Given the description of an element on the screen output the (x, y) to click on. 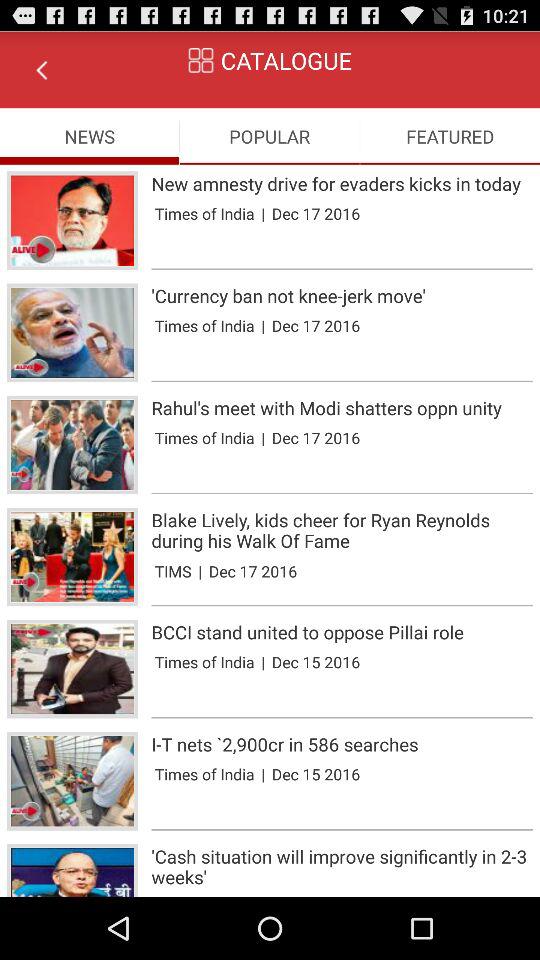
select icon to the right of the times of india (263, 437)
